Given the description of an element on the screen output the (x, y) to click on. 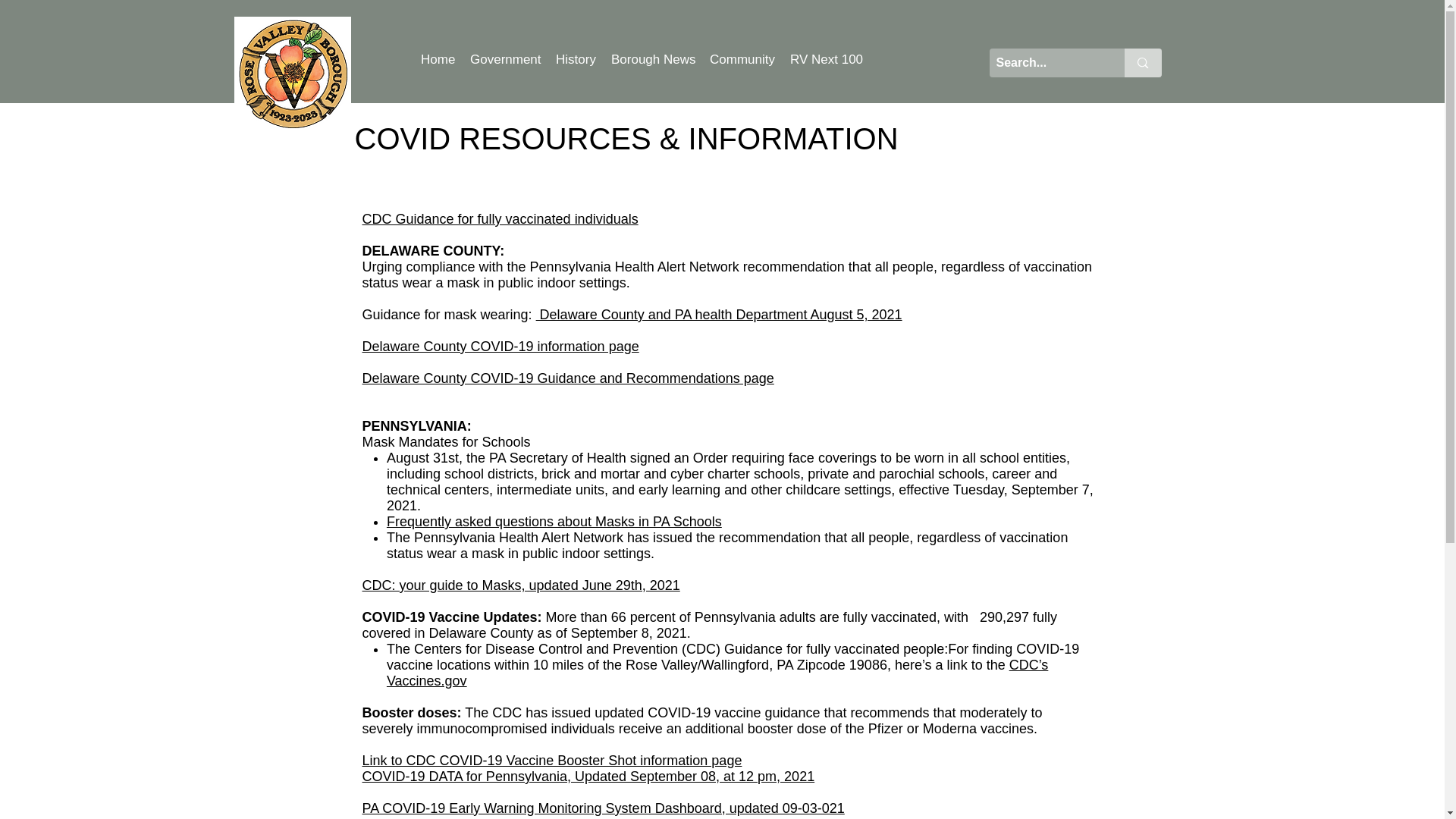
Delaware County COVID-19 information page (500, 346)
 Delaware County and PA health Department August 5, 2021 (718, 314)
Borough News (652, 59)
Link to CDC COVID-19 Vaccine Booster Shot information page (552, 760)
Delaware County COVID-19 Guidance and Recommendations page (568, 378)
Community (742, 59)
History (576, 59)
Home (438, 59)
Frequently asked questions about Masks in PA Schools (554, 521)
CDC Guidance for fully vaccinated individuals (500, 218)
